Given the description of an element on the screen output the (x, y) to click on. 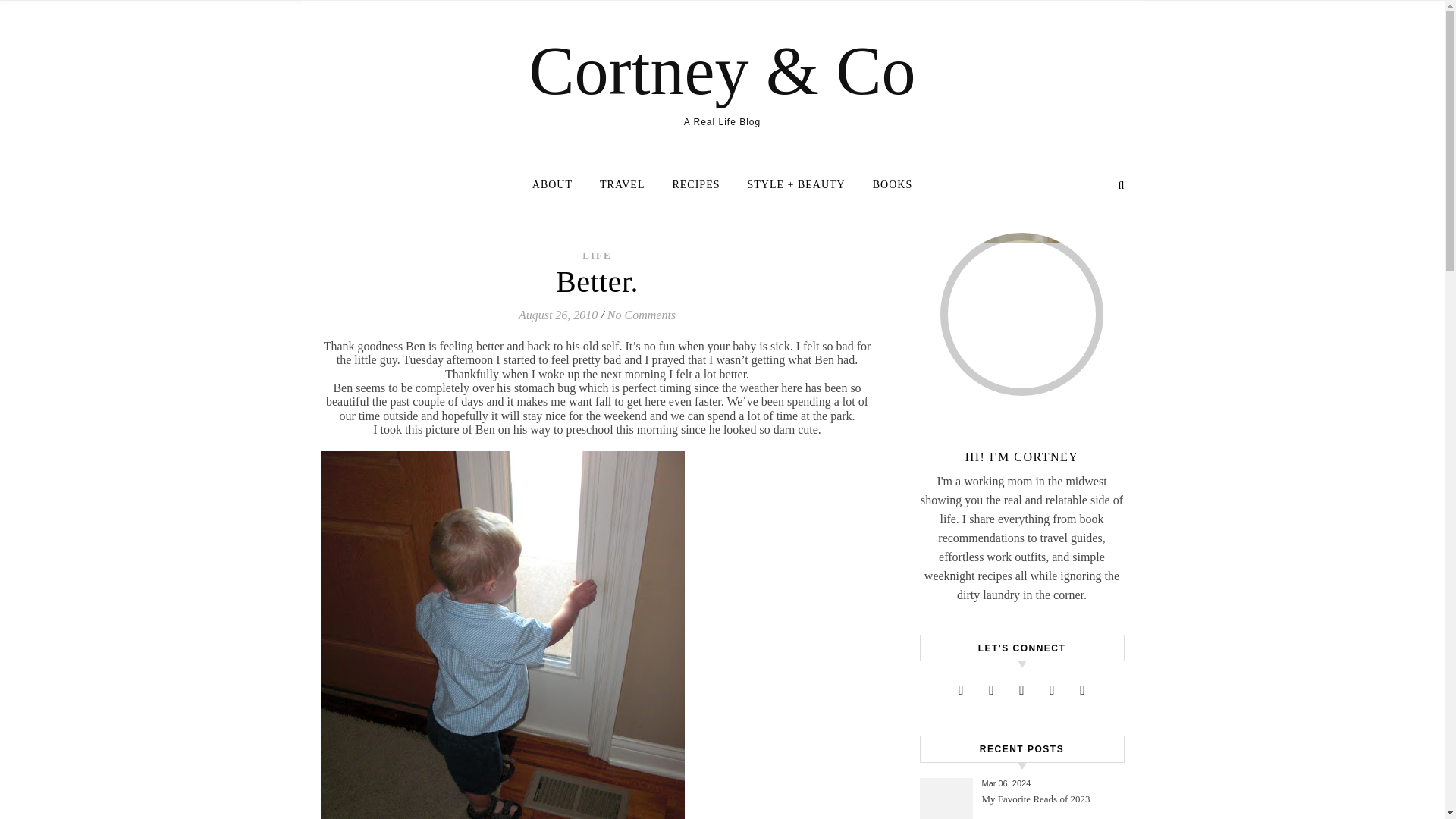
LIFE (596, 255)
TRAVEL (622, 184)
ABOUT (558, 184)
My Favorite Reads of 2023 (1051, 805)
No Comments (641, 314)
BOOKS (886, 184)
RECIPES (695, 184)
